Given the description of an element on the screen output the (x, y) to click on. 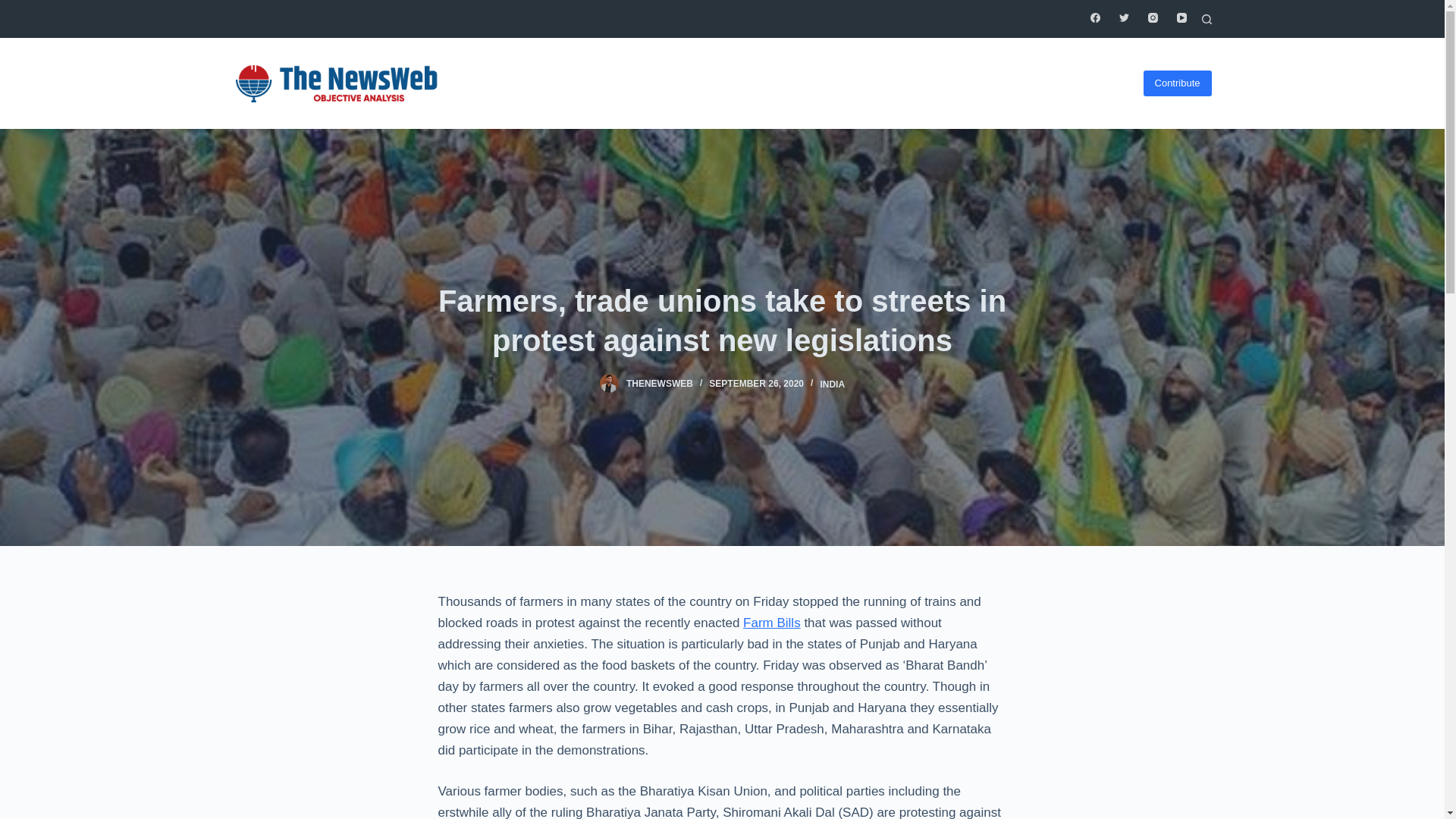
THENEWSWEB (659, 383)
INDIA (831, 383)
Skip to content (15, 7)
Farm Bills (771, 622)
Posts by Thenewsweb (659, 383)
Contribute (1176, 83)
